Given the description of an element on the screen output the (x, y) to click on. 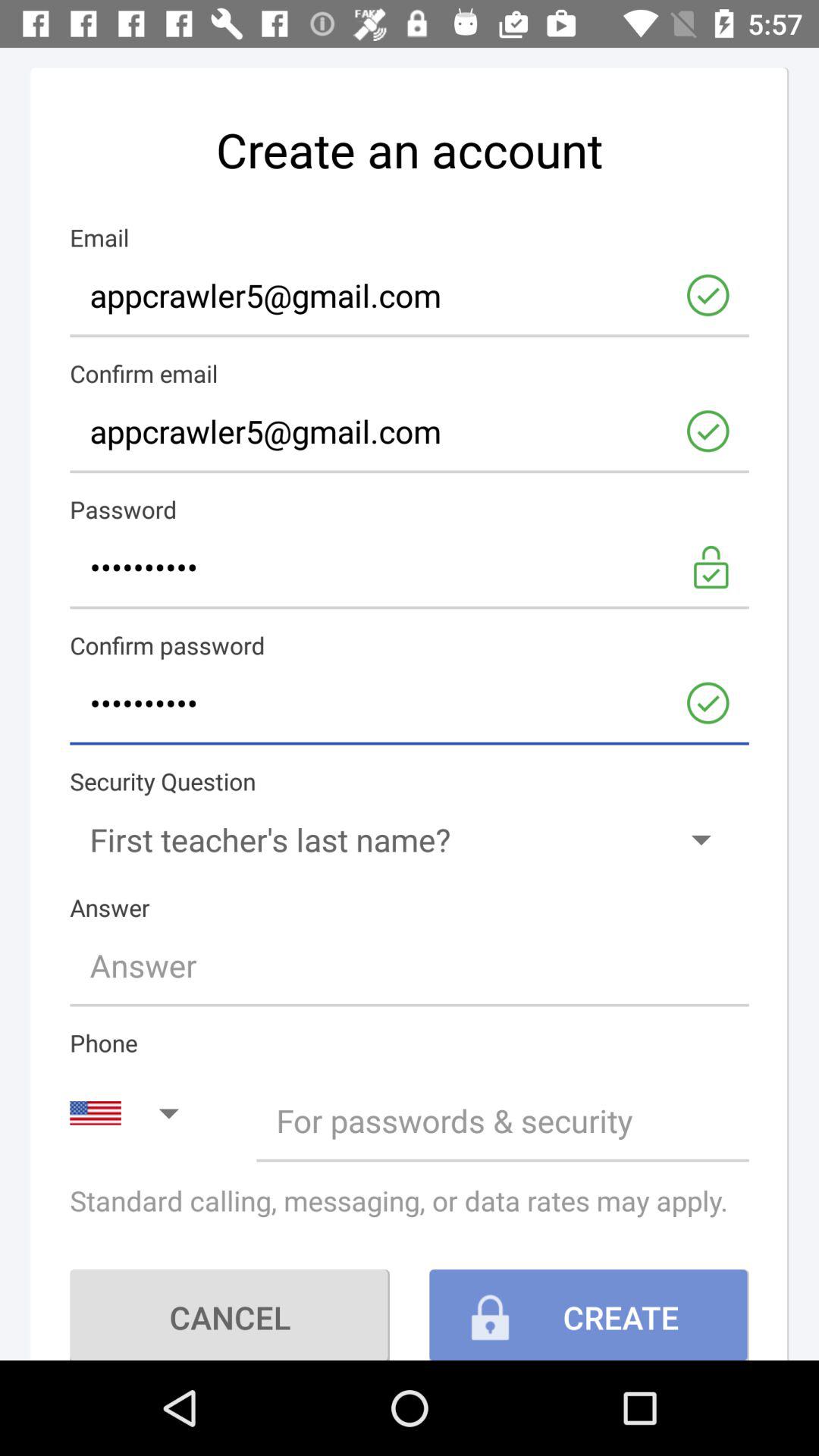
open answer (409, 964)
